Given the description of an element on the screen output the (x, y) to click on. 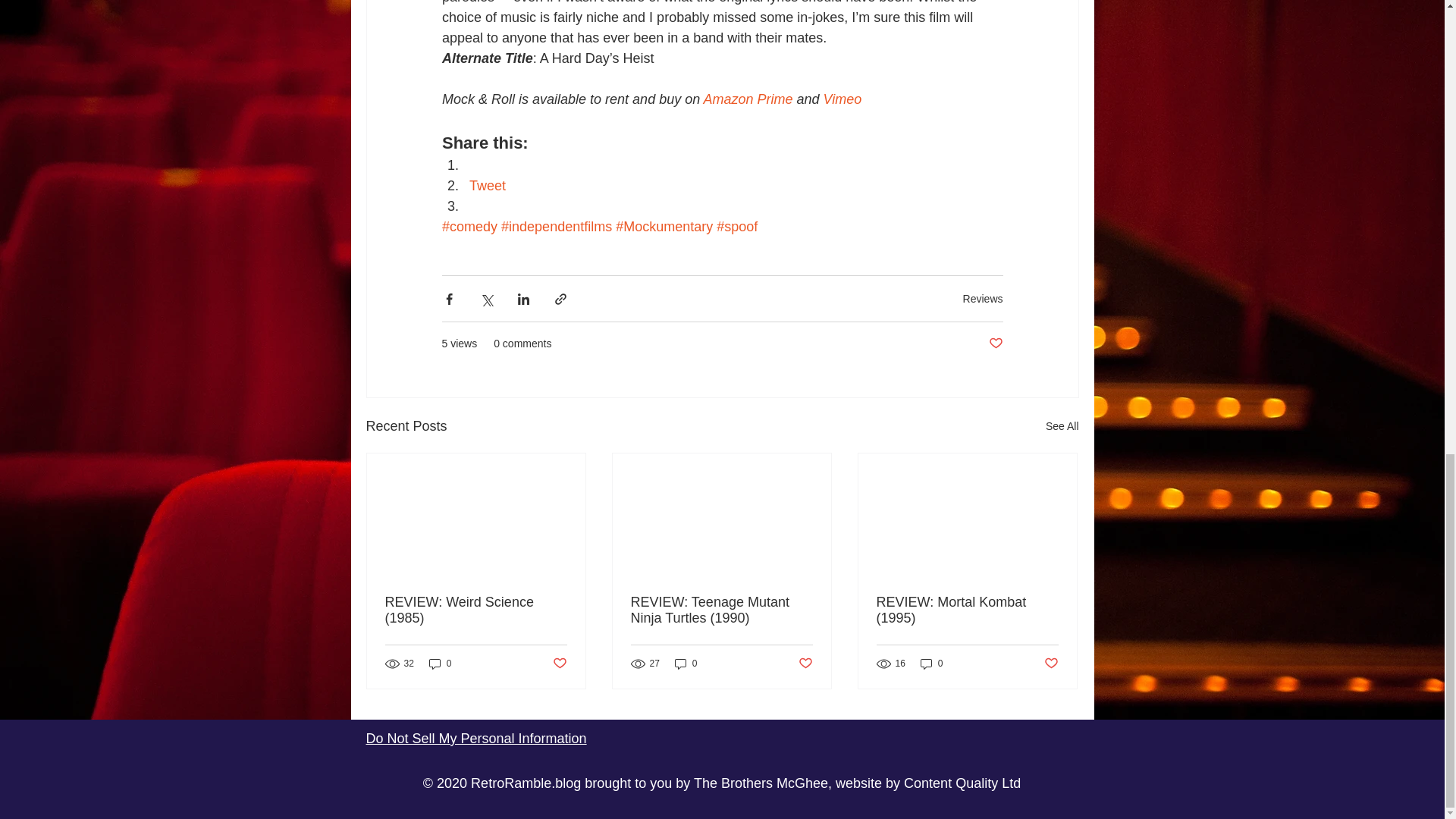
Post not marked as liked (995, 343)
Tweet (486, 185)
Vimeo (841, 99)
Amazon Prime (747, 99)
Post not marked as liked (558, 663)
See All (1061, 426)
0 (440, 663)
Reviews (982, 297)
